Given the description of an element on the screen output the (x, y) to click on. 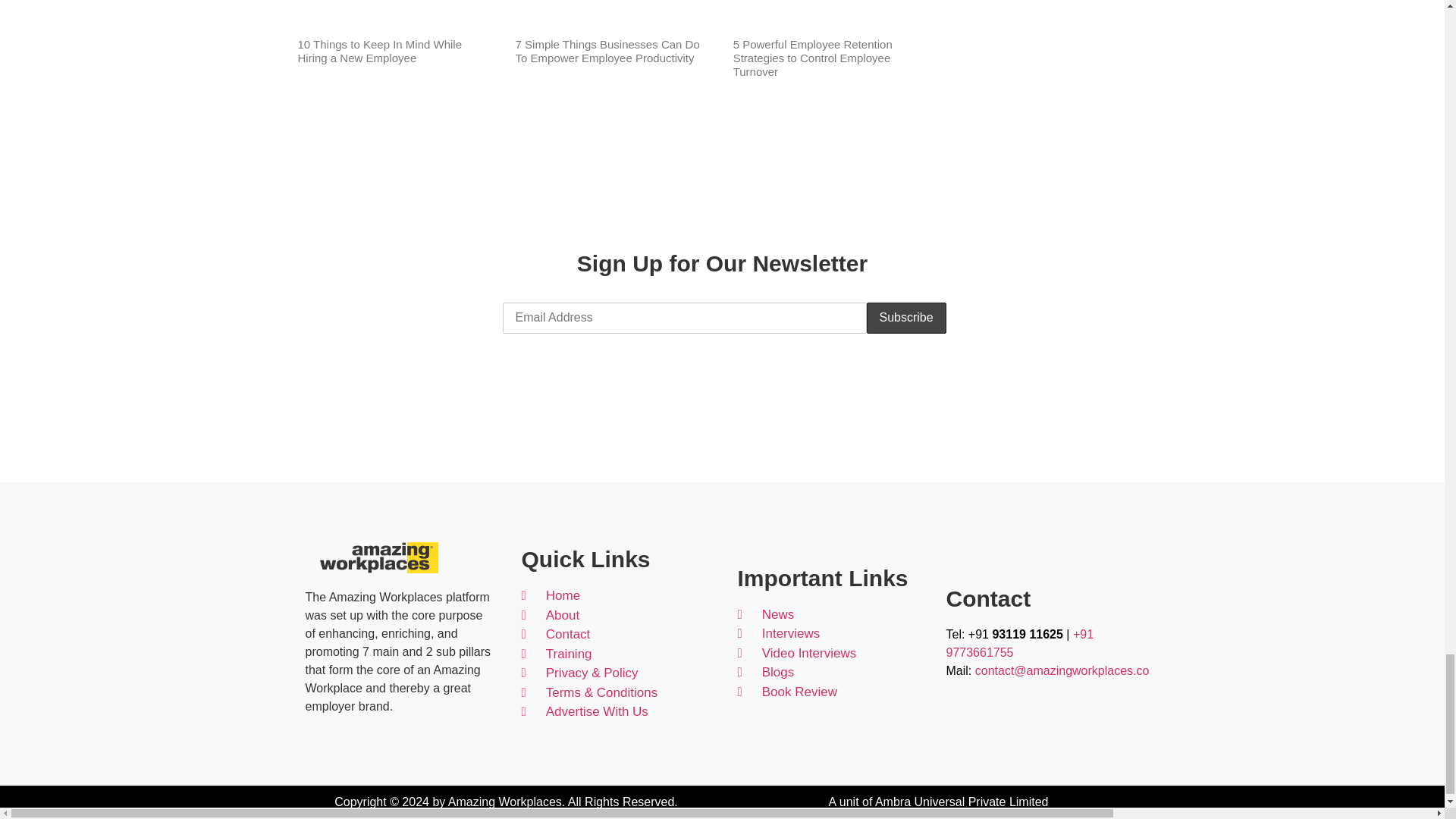
Subscribe (905, 317)
10 Things to Keep In Mind While Hiring a New Employee (379, 50)
